Given the description of an element on the screen output the (x, y) to click on. 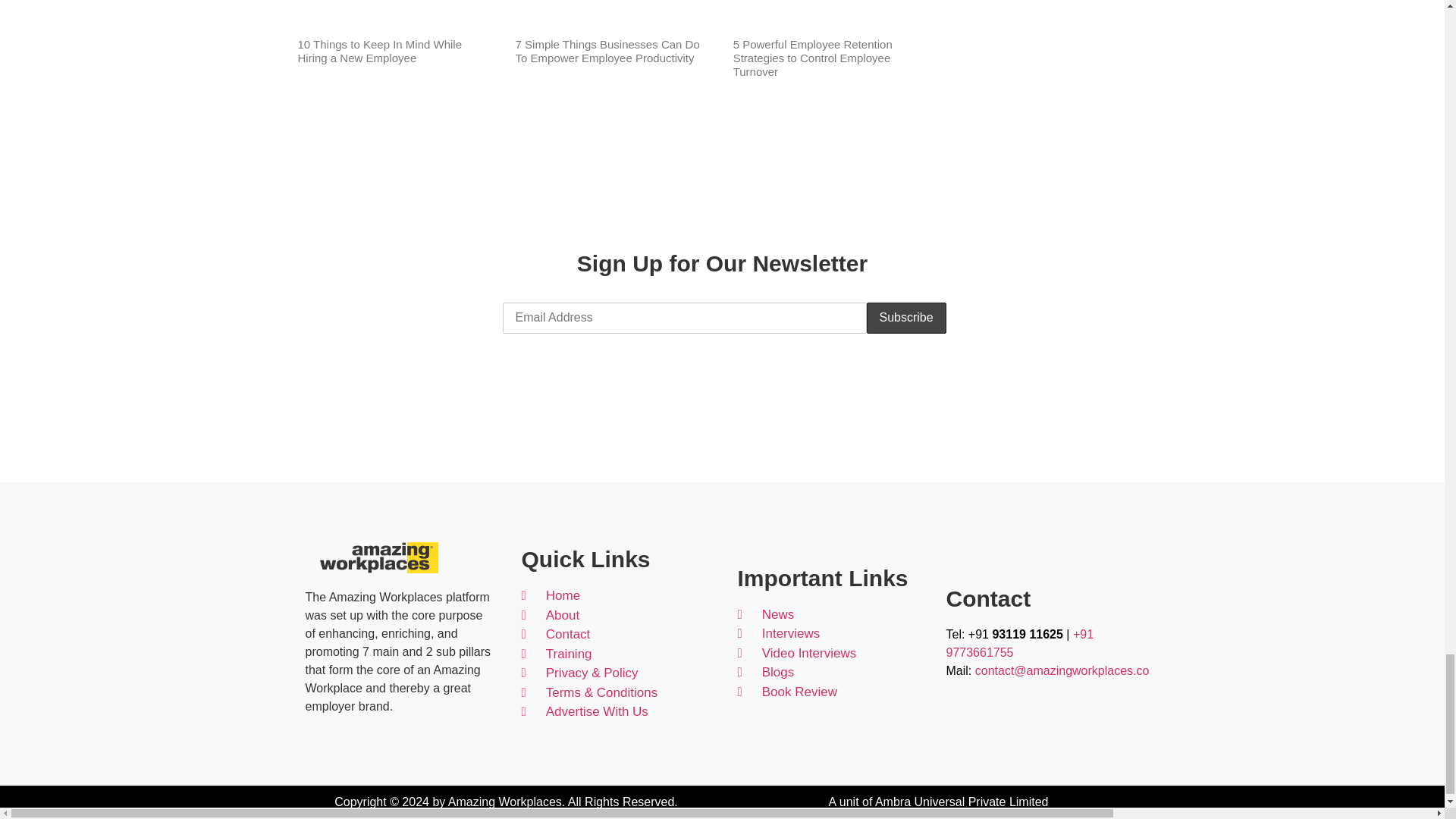
Subscribe (905, 317)
10 Things to Keep In Mind While Hiring a New Employee (379, 50)
